Given the description of an element on the screen output the (x, y) to click on. 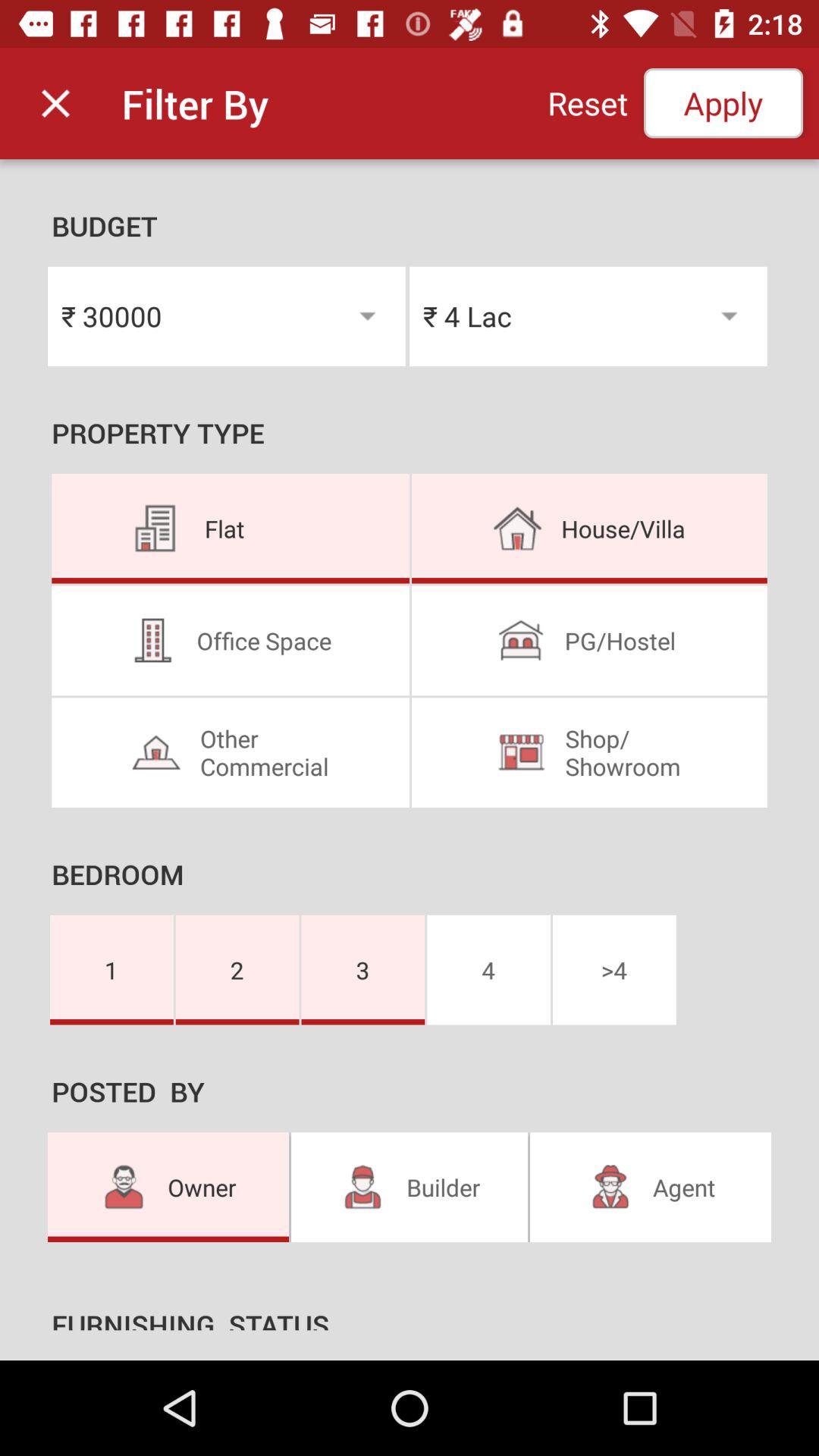
tap the posted  by icon (409, 1096)
